Given the description of an element on the screen output the (x, y) to click on. 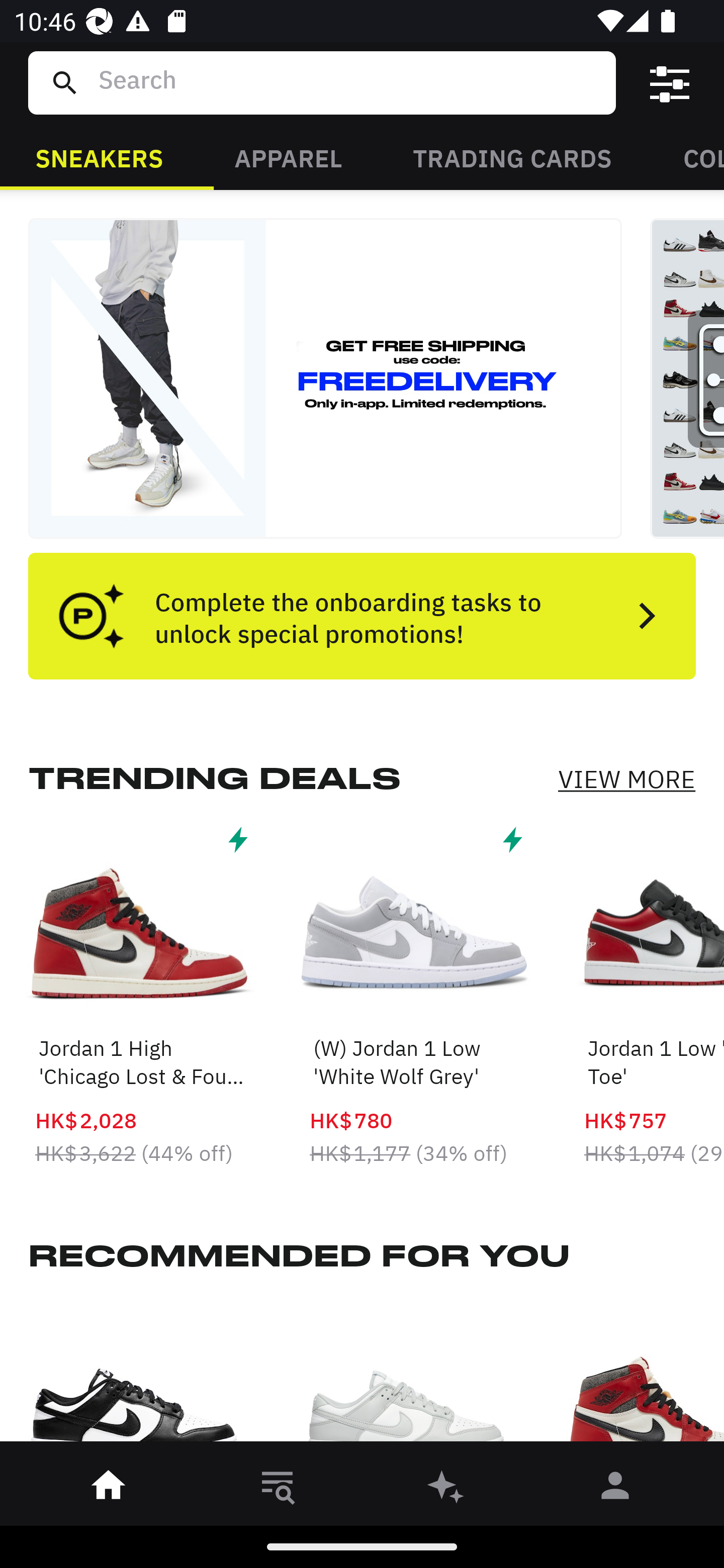
Search (349, 82)
 (669, 82)
SNEAKERS (99, 156)
APPAREL (287, 156)
TRADING CARDS (512, 156)
VIEW MORE (626, 779)
󰋜 (108, 1488)
󱎸 (277, 1488)
󰫢 (446, 1488)
󰀄 (615, 1488)
